Given the description of an element on the screen output the (x, y) to click on. 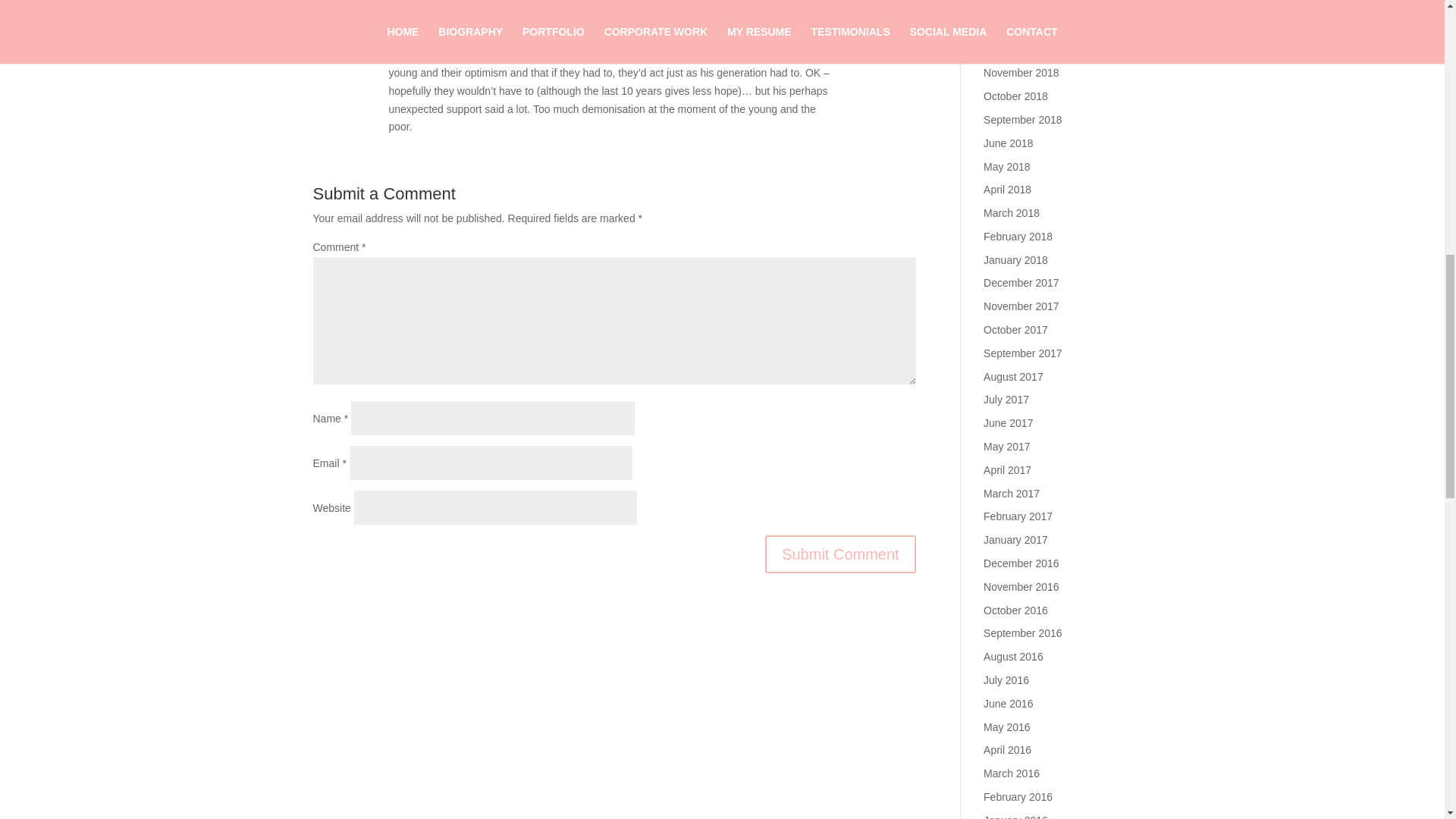
Submit Comment (840, 554)
Submit Comment (840, 554)
Peter (403, 13)
Reply (901, 18)
